Given the description of an element on the screen output the (x, y) to click on. 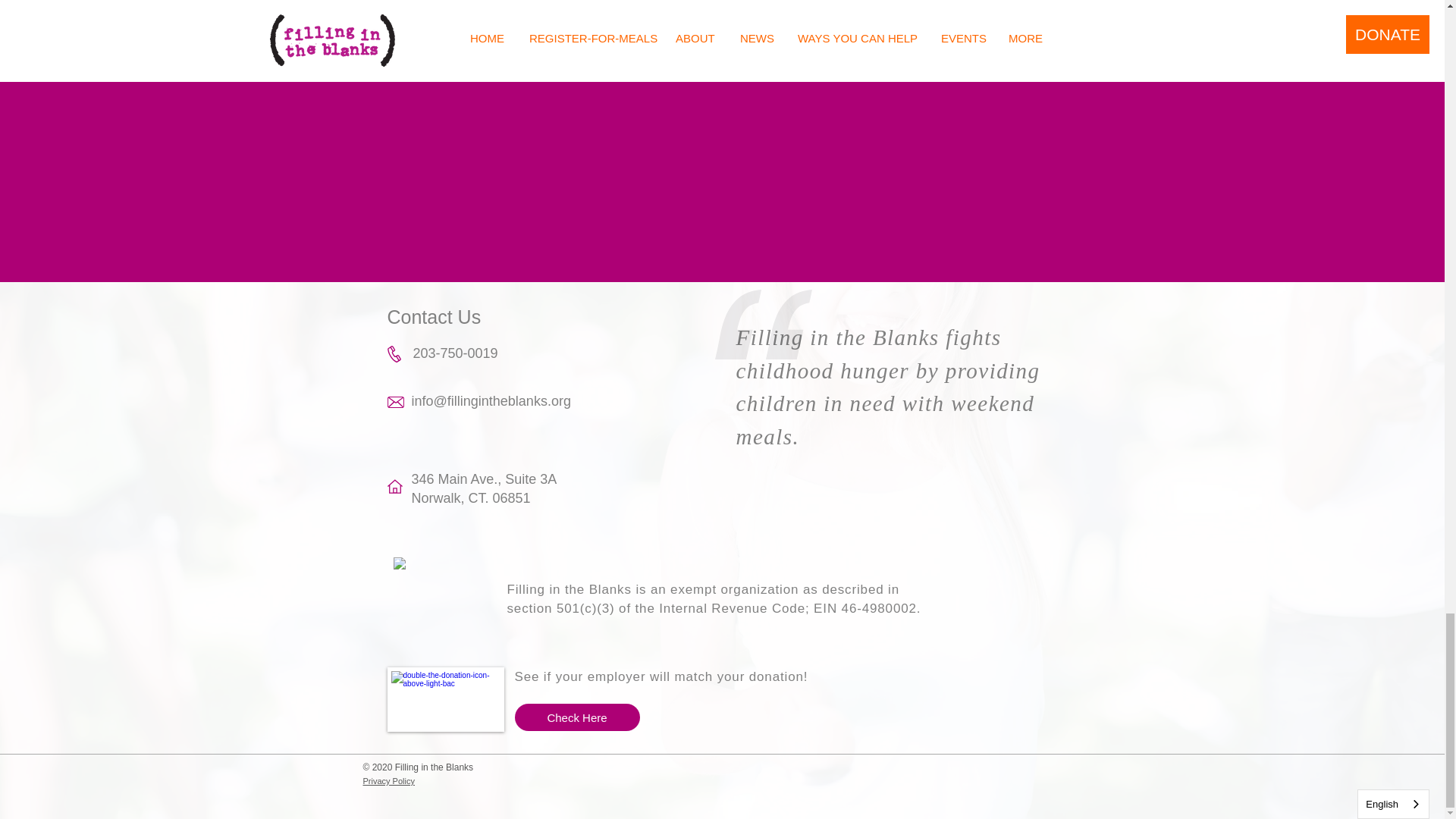
Embedded Content (437, 599)
